Given the description of an element on the screen output the (x, y) to click on. 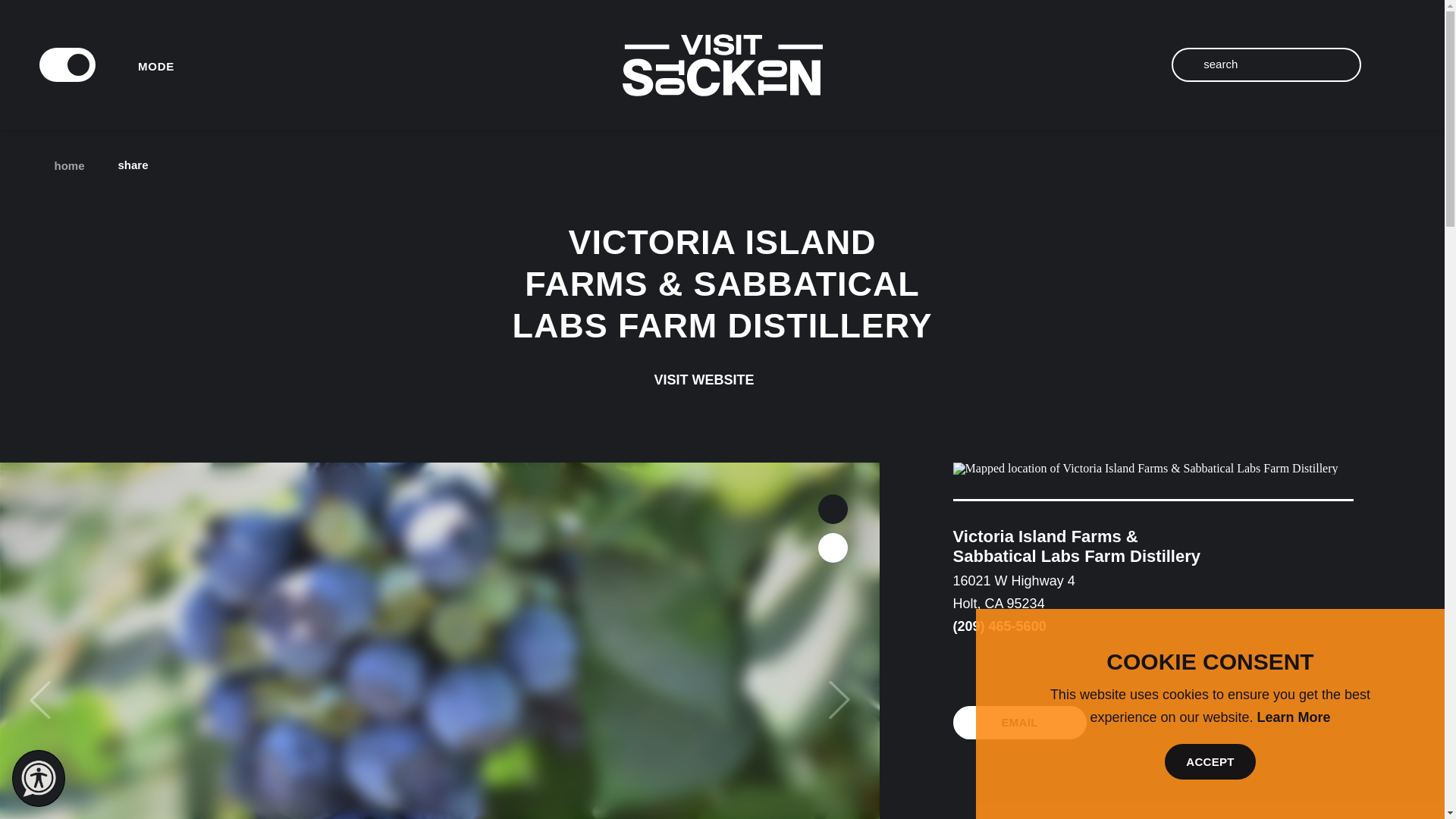
Skip to content (57, 15)
share (144, 165)
EMAIL (1019, 722)
VISIT WEBSITE (721, 379)
home (64, 165)
